Given the description of an element on the screen output the (x, y) to click on. 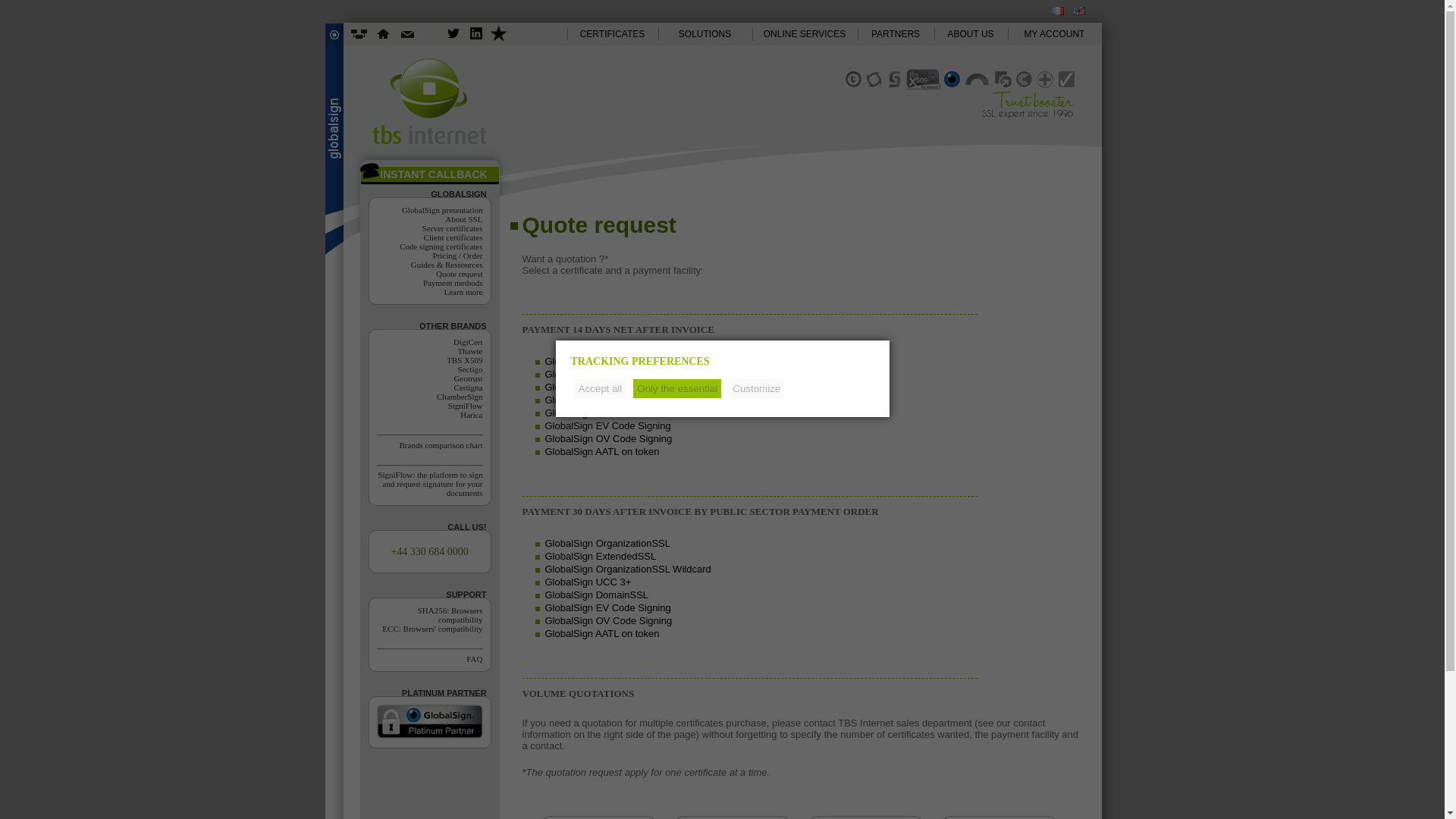
Back to Home Page (427, 140)
French version (1056, 10)
LinkedIn (475, 33)
Plan (358, 33)
Customize (756, 388)
Accept all (600, 388)
Contact (407, 33)
Home (382, 33)
TBS INTERNET TrustPilot page  (497, 33)
SOLUTIONS (705, 33)
Twitter (452, 33)
Only the essential (676, 388)
ONLINE SERVICES (804, 33)
CERTIFICATES (612, 33)
